Given the description of an element on the screen output the (x, y) to click on. 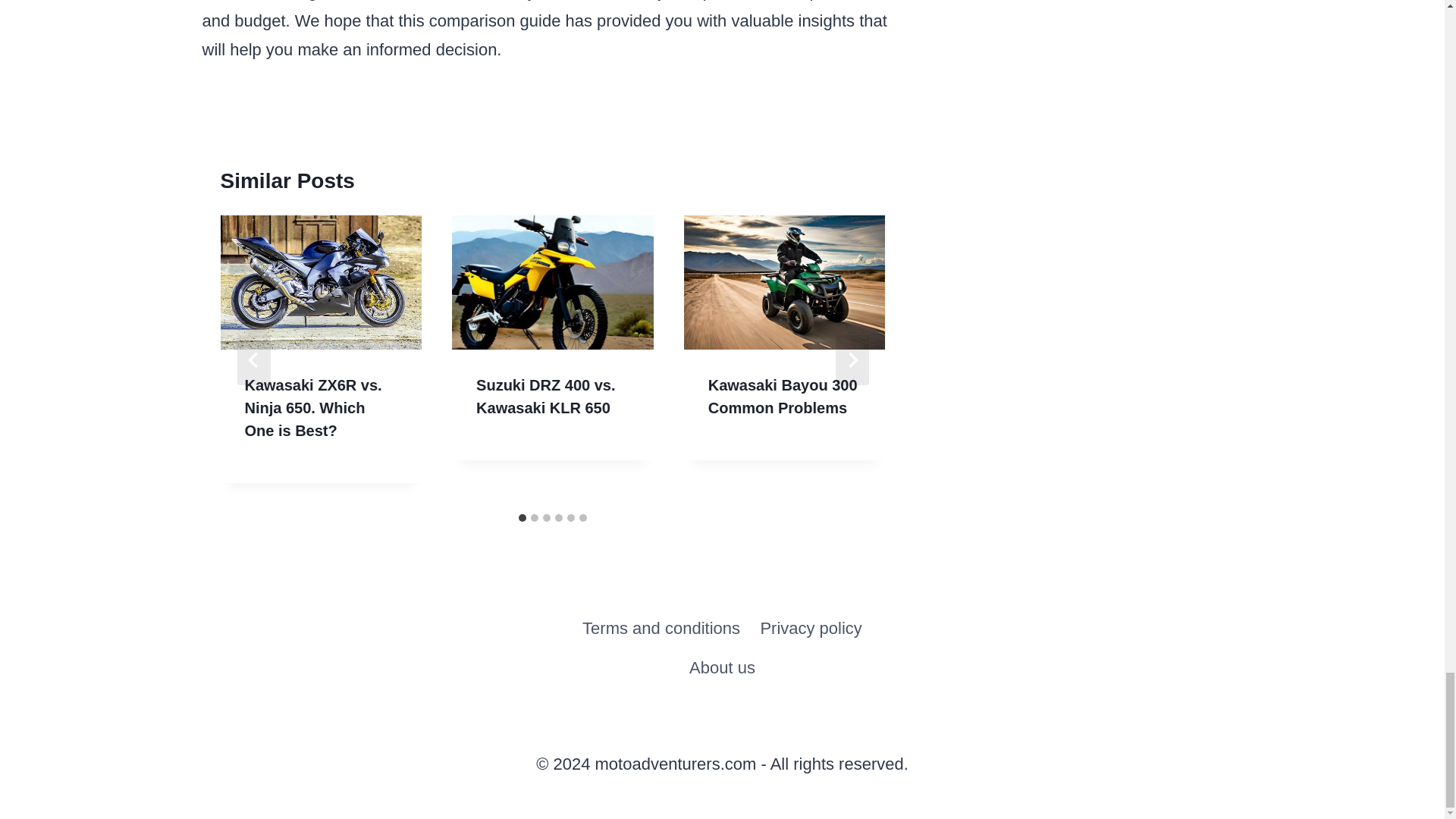
Kawasaki ZX6R vs. Ninja 650. Which One is Best? (312, 407)
